Given the description of an element on the screen output the (x, y) to click on. 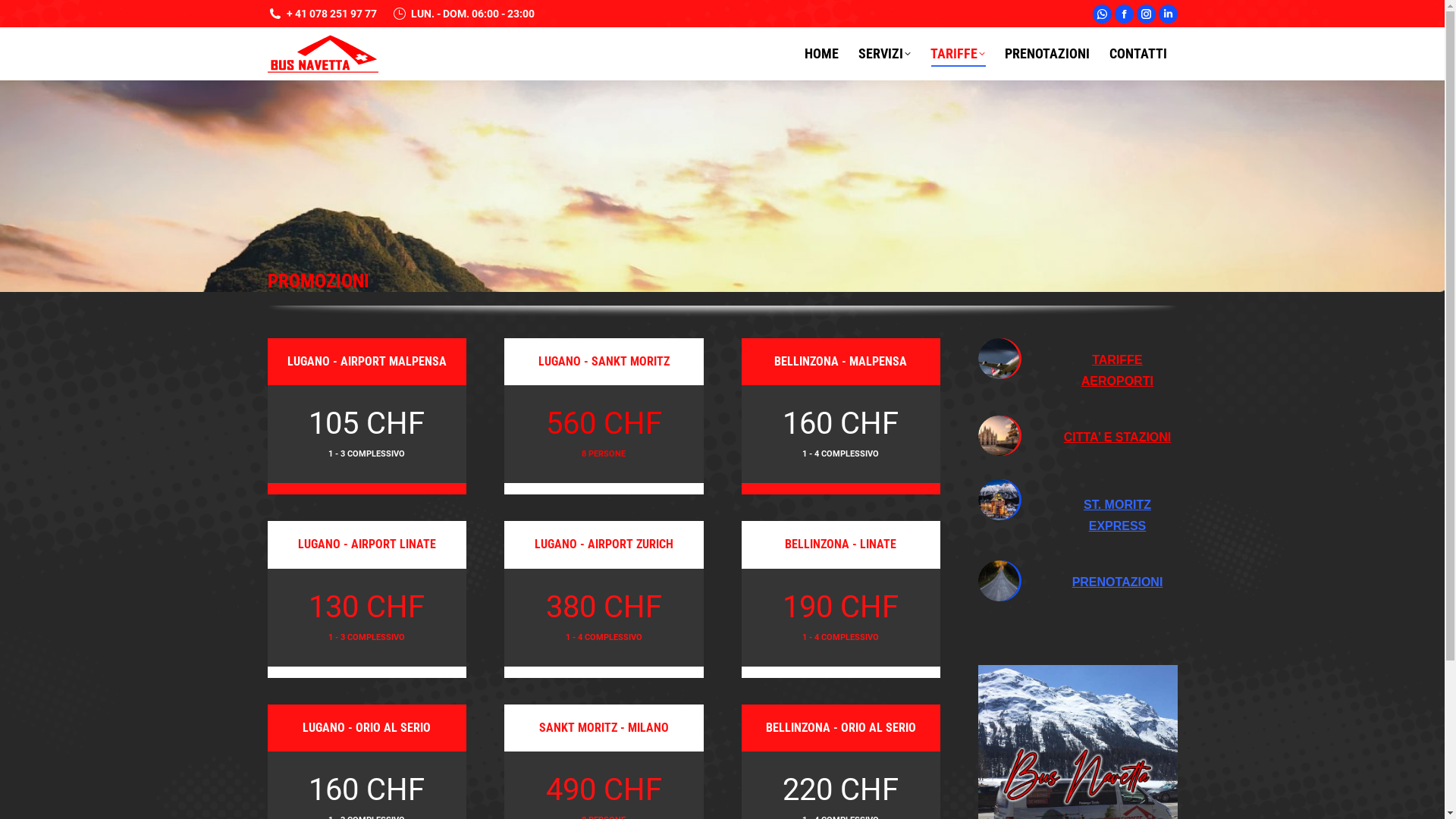
Whatsapp page opens in new window Element type: text (1101, 13)
EXPRESS Element type: text (1117, 525)
Instagram page opens in new window Element type: text (1144, 13)
TARIFFE Element type: text (953, 53)
ST. MORITZ Element type: text (1117, 504)
PRENOTAZIONI Element type: text (1117, 581)
Linkedin page opens in new window Element type: text (1167, 13)
HOME Element type: text (817, 53)
SERVIZI Element type: text (881, 53)
PRENOTAZIONI Element type: text (1043, 53)
CONTATTI Element type: text (1134, 53)
Facebook page opens in new window Element type: text (1123, 13)
TARIFFE AEROPORTI Element type: text (1117, 370)
